Given the description of an element on the screen output the (x, y) to click on. 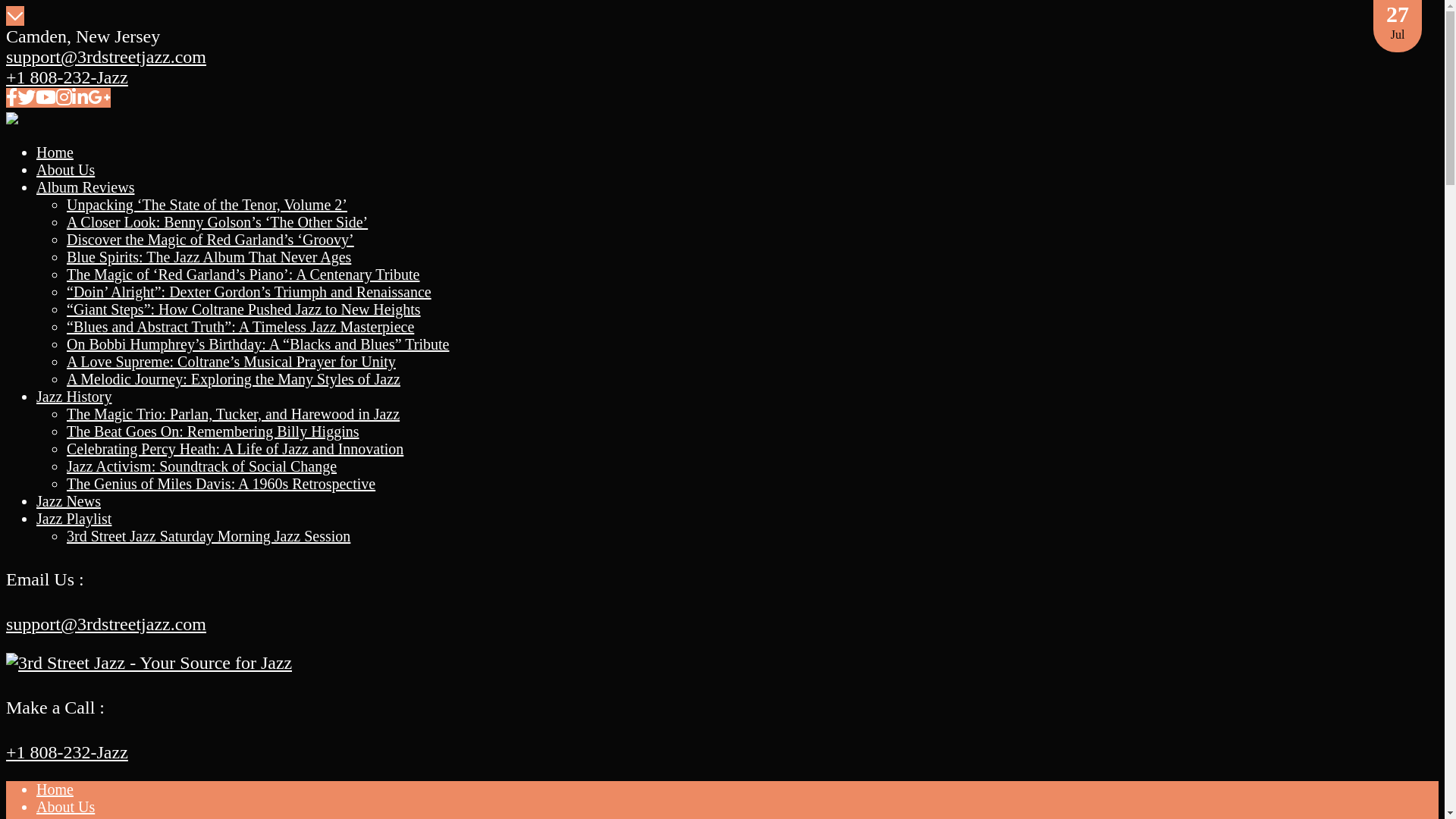
The Beat Goes On: Remembering Billy Higgins Element type: text (212, 431)
instagram Element type: hover (64, 97)
Album Reviews Element type: text (85, 186)
A Melodic Journey: Exploring the Many Styles of Jazz Element type: text (233, 378)
The Genius of Miles Davis: A 1960s Retrospective Element type: text (220, 483)
linkedin-in Element type: hover (79, 97)
Blue Spirits: The Jazz Album That Never Ages Element type: text (208, 256)
Home Element type: text (54, 789)
+1 808-232-Jazz Element type: text (67, 77)
twitter Element type: hover (26, 97)
Jazz News Element type: text (68, 500)
facebook-f Element type: hover (11, 97)
About Us Element type: text (65, 806)
google-plus-g Element type: hover (98, 97)
support@3rdstreetjazz.com Element type: text (106, 623)
Home Element type: text (54, 152)
Jazz Playlist Element type: text (73, 518)
About Us Element type: text (65, 169)
+1 808-232-Jazz Element type: text (67, 752)
Celebrating Percy Heath: A Life of Jazz and Innovation Element type: text (234, 448)
youtube Element type: hover (45, 97)
Jazz Activism: Soundtrack of Social Change Element type: text (201, 466)
3rd Street Jazz Saturday Morning Jazz Session Element type: text (208, 535)
support@3rdstreetjazz.com Element type: text (106, 56)
The Magic Trio: Parlan, Tucker, and Harewood in Jazz Element type: text (232, 413)
Jazz History Element type: text (73, 396)
